Given the description of an element on the screen output the (x, y) to click on. 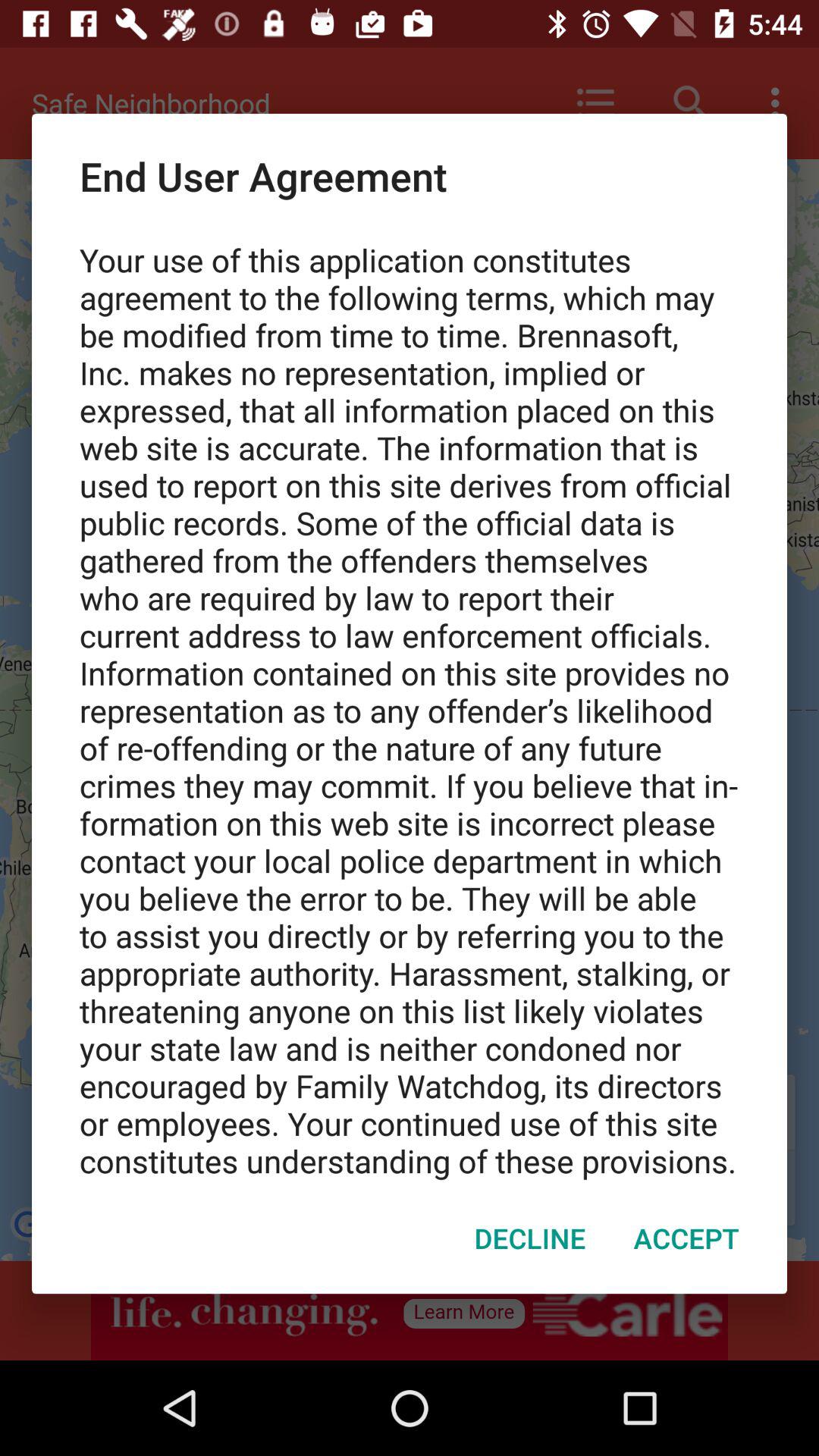
scroll until the decline icon (529, 1237)
